Given the description of an element on the screen output the (x, y) to click on. 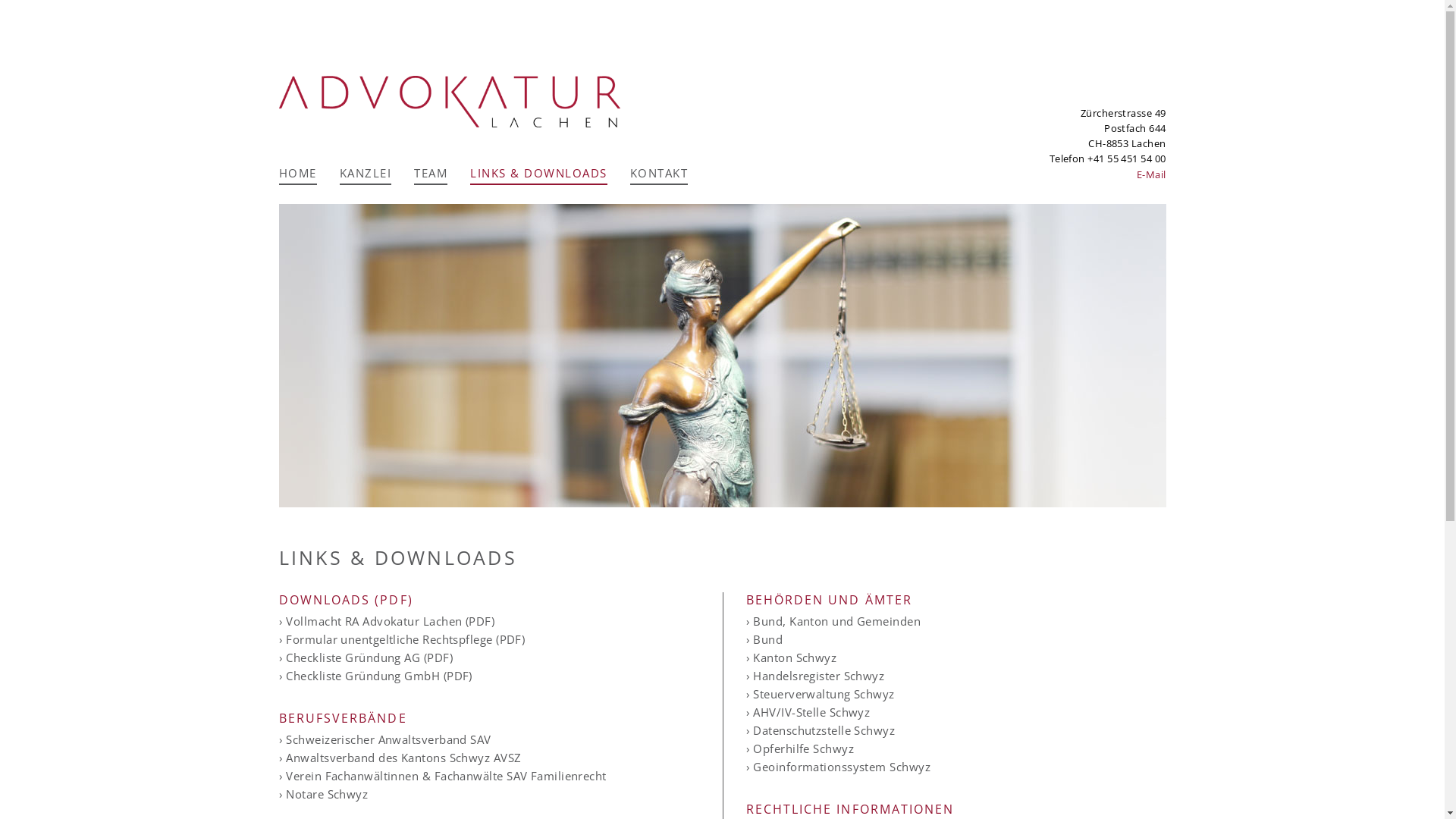
LINKS & DOWNLOADS Element type: text (538, 175)
HOME Element type: text (297, 175)
TEAM Element type: text (430, 175)
KANZLEI Element type: text (365, 175)
E-Mail Element type: text (1151, 174)
KONTAKT Element type: text (658, 175)
